Given the description of an element on the screen output the (x, y) to click on. 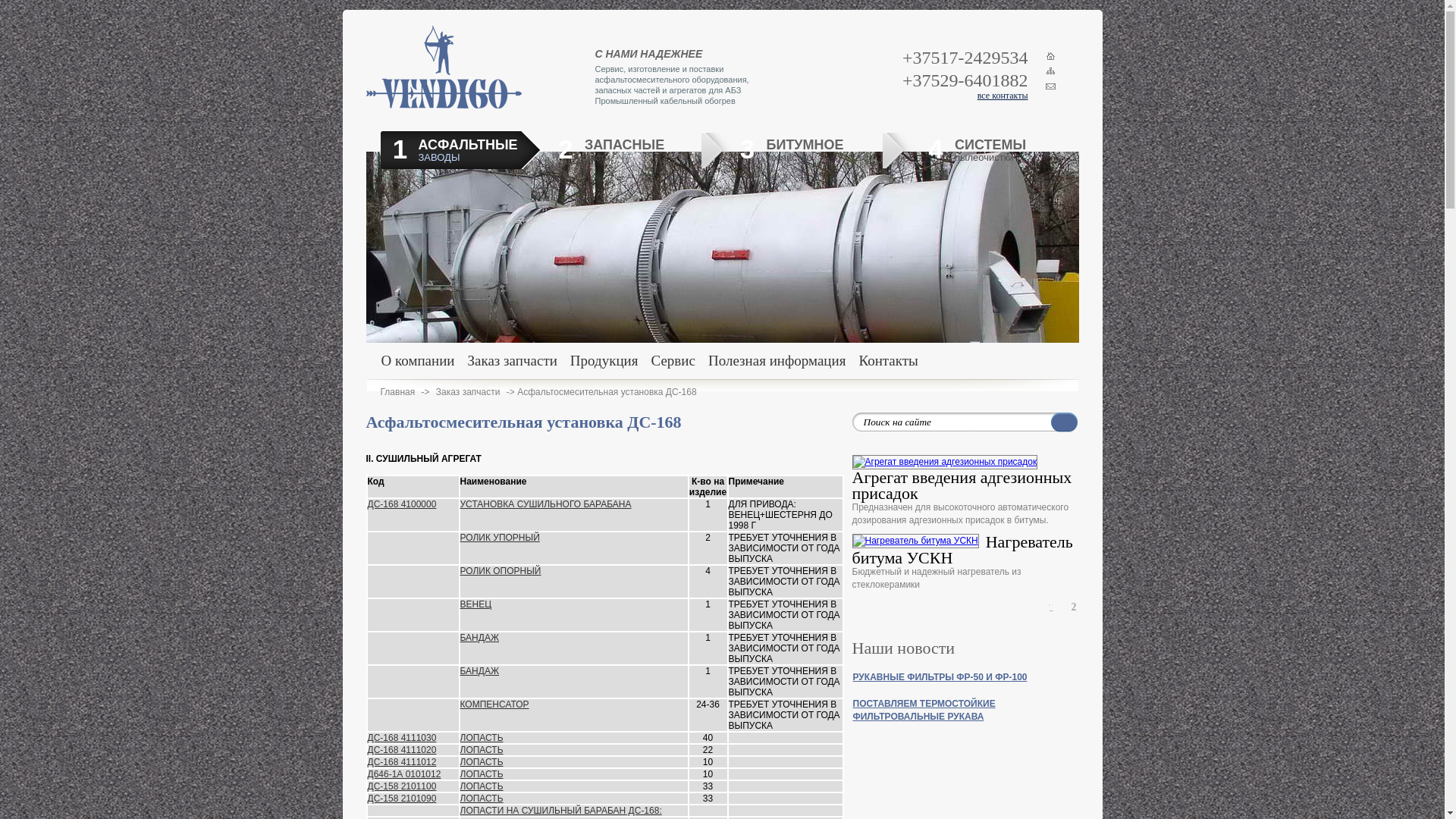
2 Element type: text (1073, 607)
1 Element type: text (1050, 607)
